Given the description of an element on the screen output the (x, y) to click on. 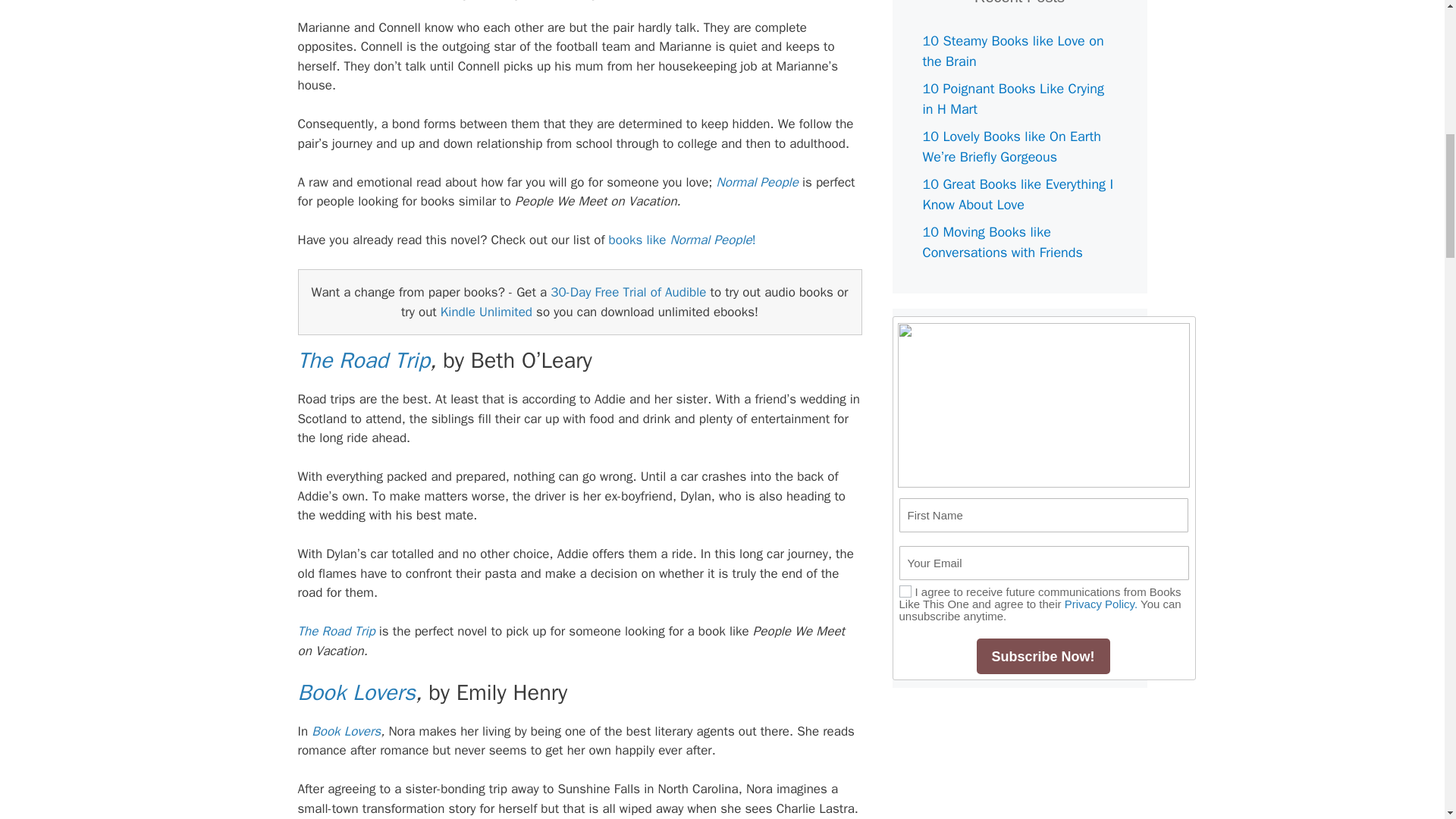
The Road Trip (335, 631)
The Road Trip (363, 360)
Book Lovers (355, 692)
Kindle Unlimited (486, 311)
Normal People (756, 182)
30-Day Free Trial of Audible (628, 292)
Book Lovers (345, 731)
books like Normal People! (681, 239)
Normal People (367, 1)
